Given the description of an element on the screen output the (x, y) to click on. 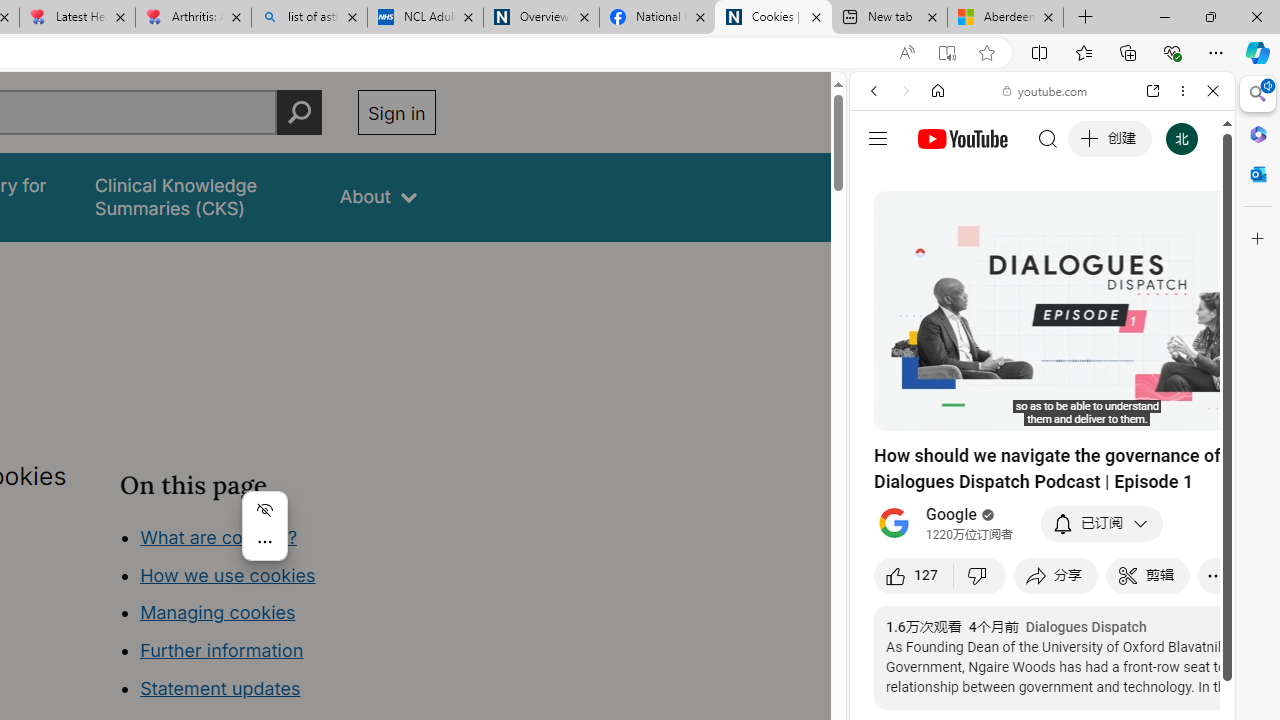
More actions (264, 542)
youtube.com (1046, 90)
Dialogues Dispatch (1085, 627)
false (198, 196)
